Given the description of an element on the screen output the (x, y) to click on. 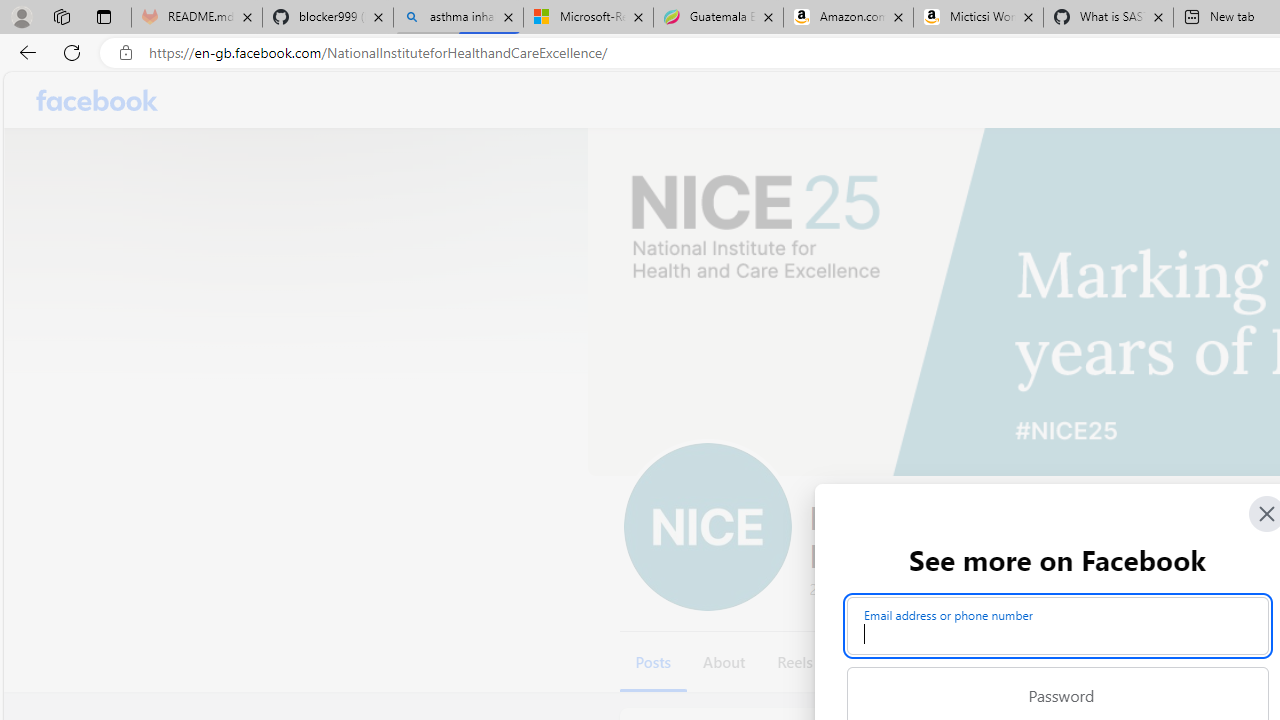
Facebook (97, 99)
